Given the description of an element on the screen output the (x, y) to click on. 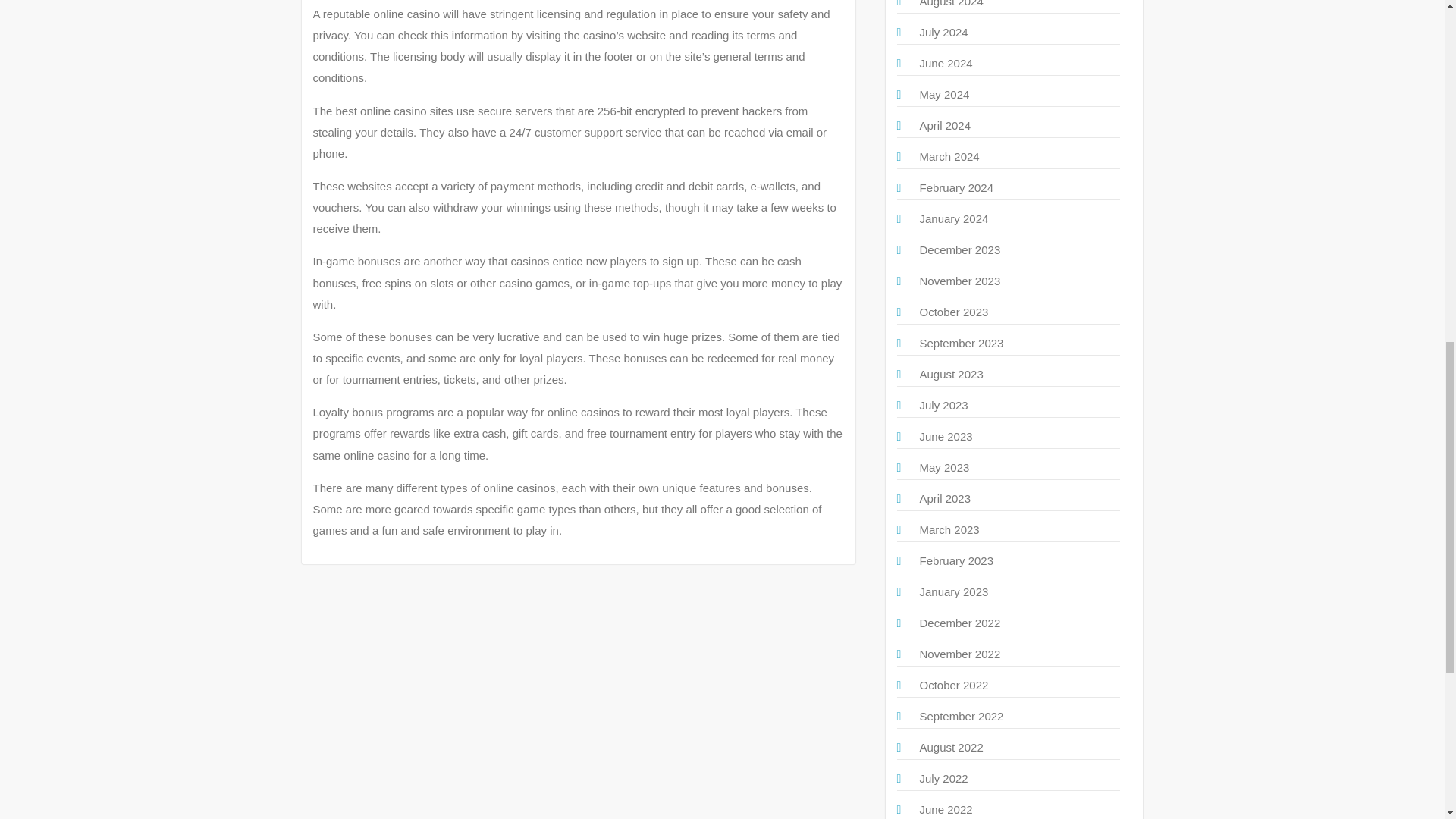
April 2023 (944, 498)
May 2024 (943, 93)
May 2023 (943, 467)
October 2023 (953, 311)
March 2024 (948, 155)
June 2024 (945, 62)
April 2024 (944, 124)
December 2023 (959, 249)
February 2023 (955, 560)
July 2022 (943, 778)
